Given the description of an element on the screen output the (x, y) to click on. 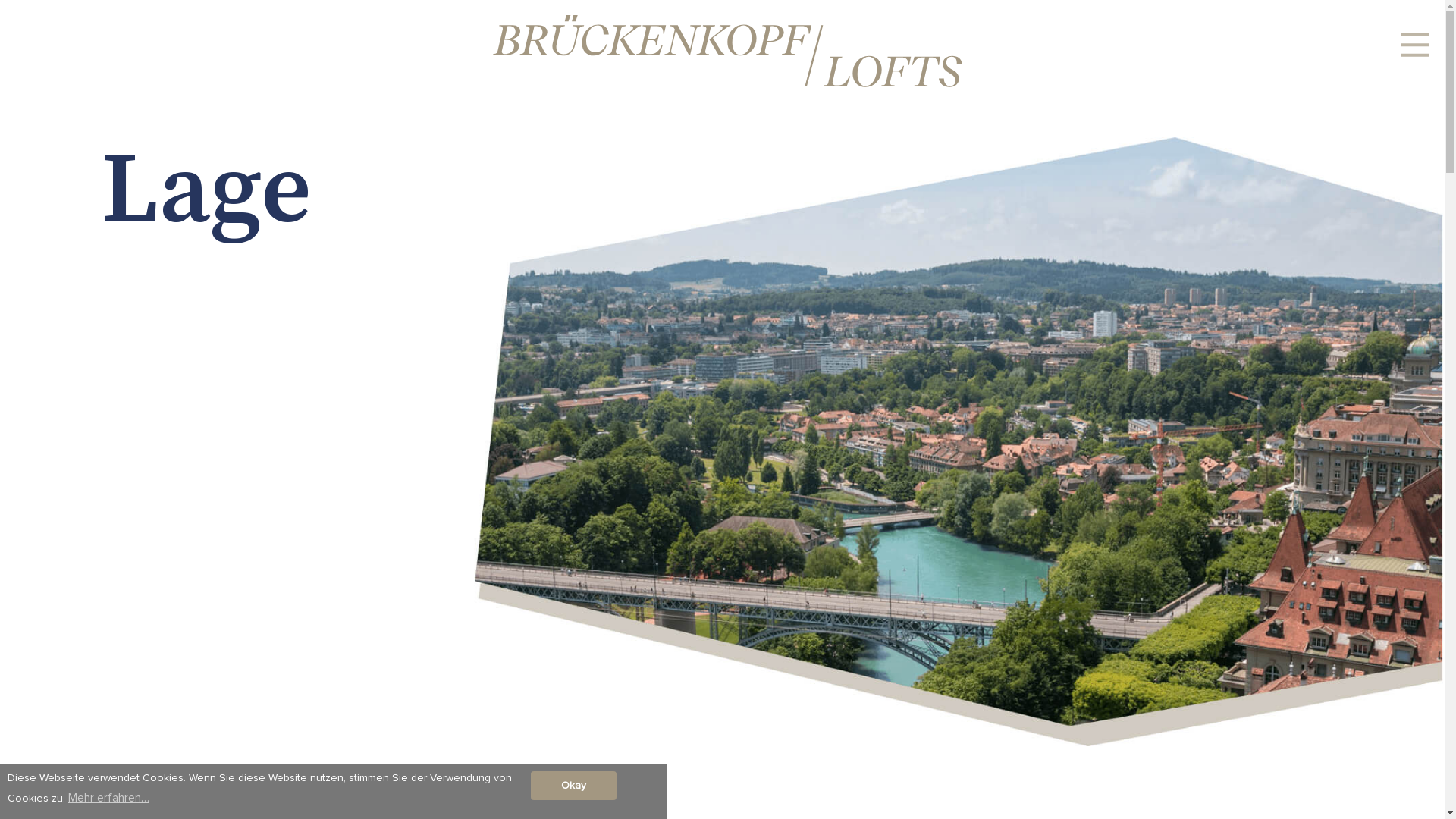
Okay Element type: text (573, 785)
